Given the description of an element on the screen output the (x, y) to click on. 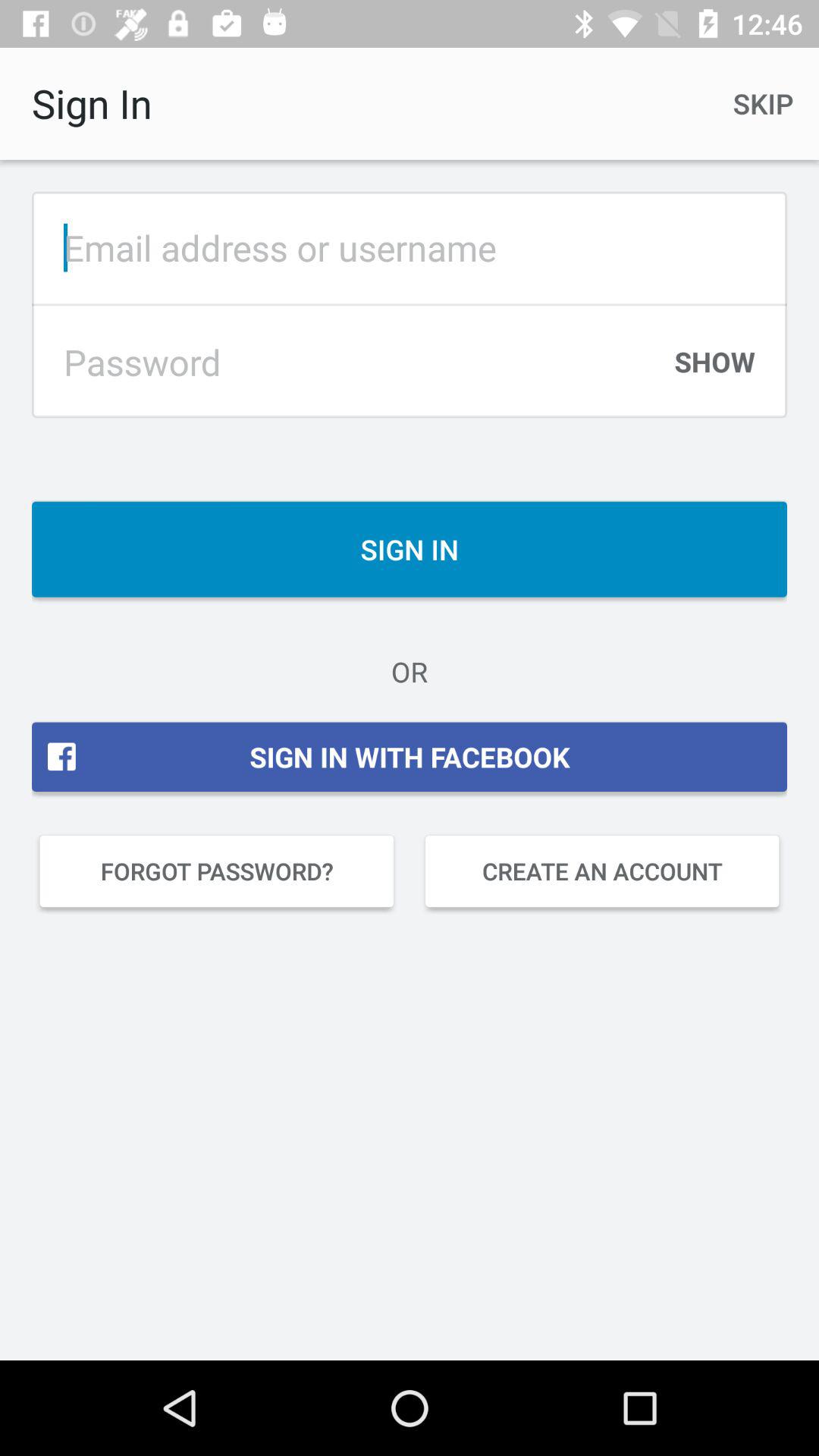
enter email address or username (409, 247)
